Given the description of an element on the screen output the (x, y) to click on. 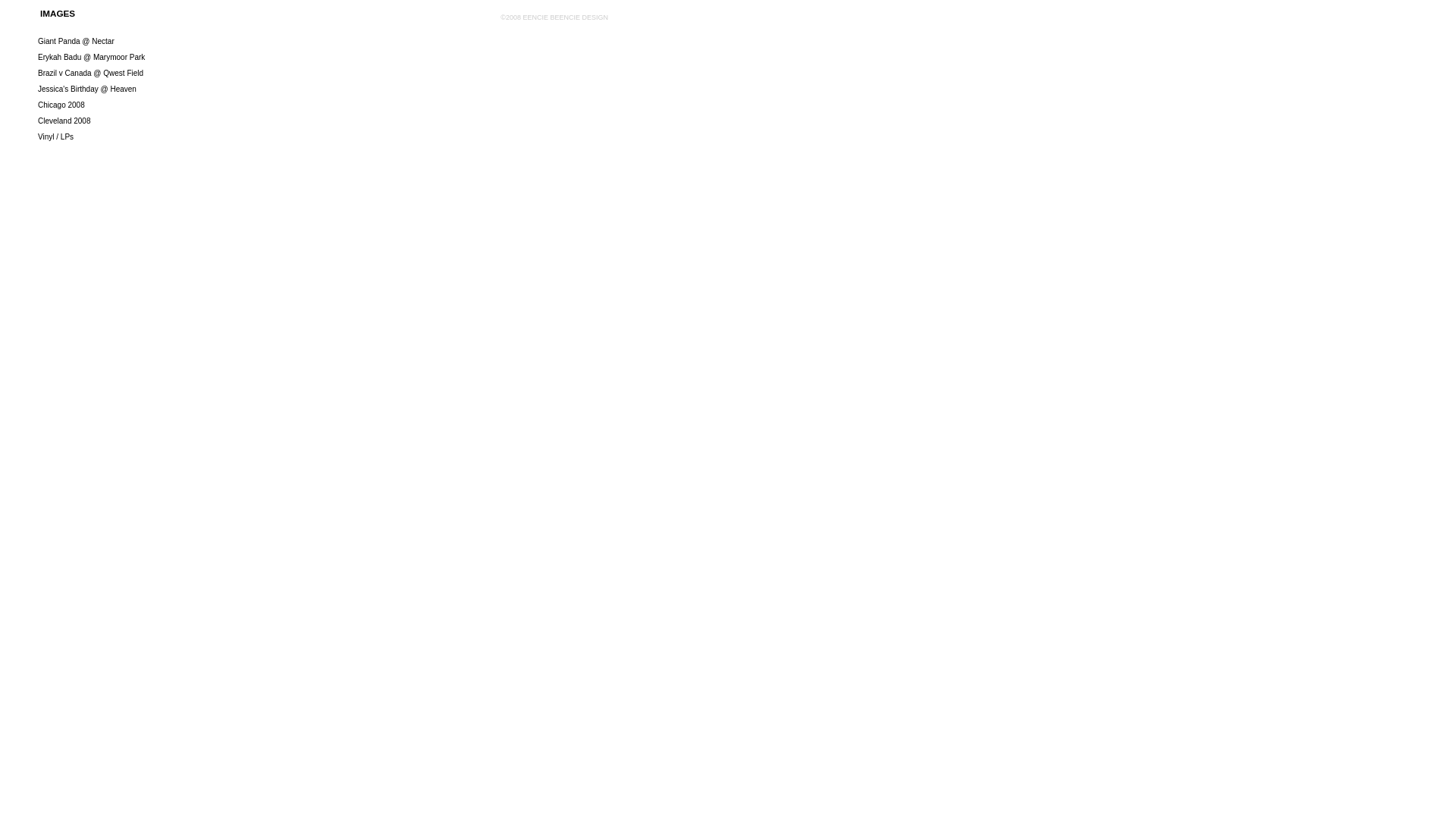
Jessica's Birthday @ Heaven Element type: text (86, 88)
Cleveland 2008 Element type: text (64, 120)
Brazil v Canada @ Qwest Field Element type: text (90, 73)
Chicago 2008 Element type: text (60, 104)
Erykah Badu @ Marymoor Park Element type: text (90, 57)
Vinyl / LPs Element type: text (55, 136)
Giant Panda @ Nectar Element type: text (75, 41)
